Given the description of an element on the screen output the (x, y) to click on. 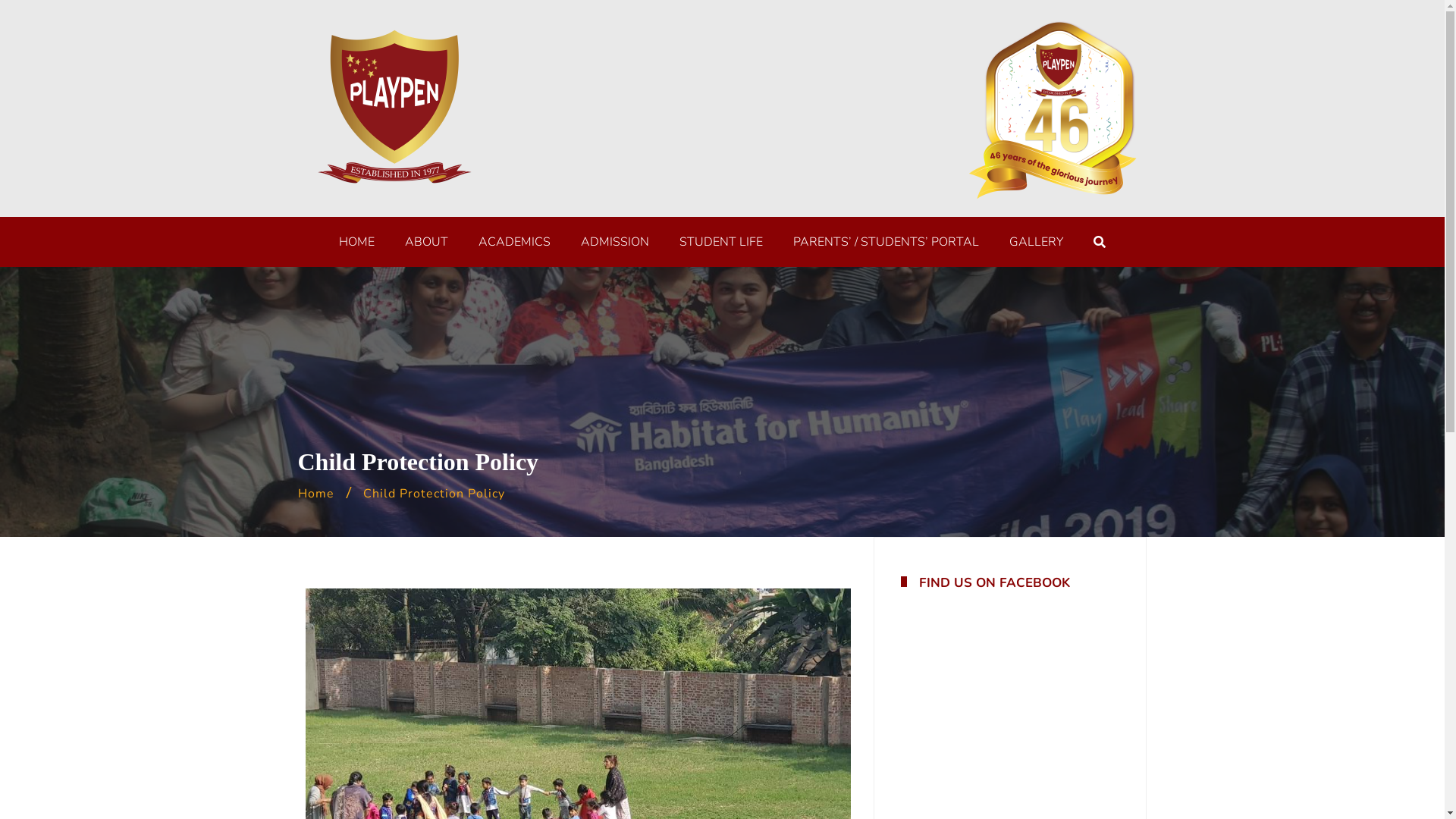
Home Element type: text (315, 493)
HOME Element type: text (356, 241)
GALLERY Element type: text (1036, 241)
ACADEMICS Element type: text (514, 241)
STUDENT LIFE Element type: text (721, 241)
play pen logo-01 Element type: hover (391, 108)
ABOUT Element type: text (426, 241)
Child Protection Policy Element type: text (433, 493)
ADMISSION Element type: text (614, 241)
celebration logo-01 Element type: hover (1051, 108)
